Given the description of an element on the screen output the (x, y) to click on. 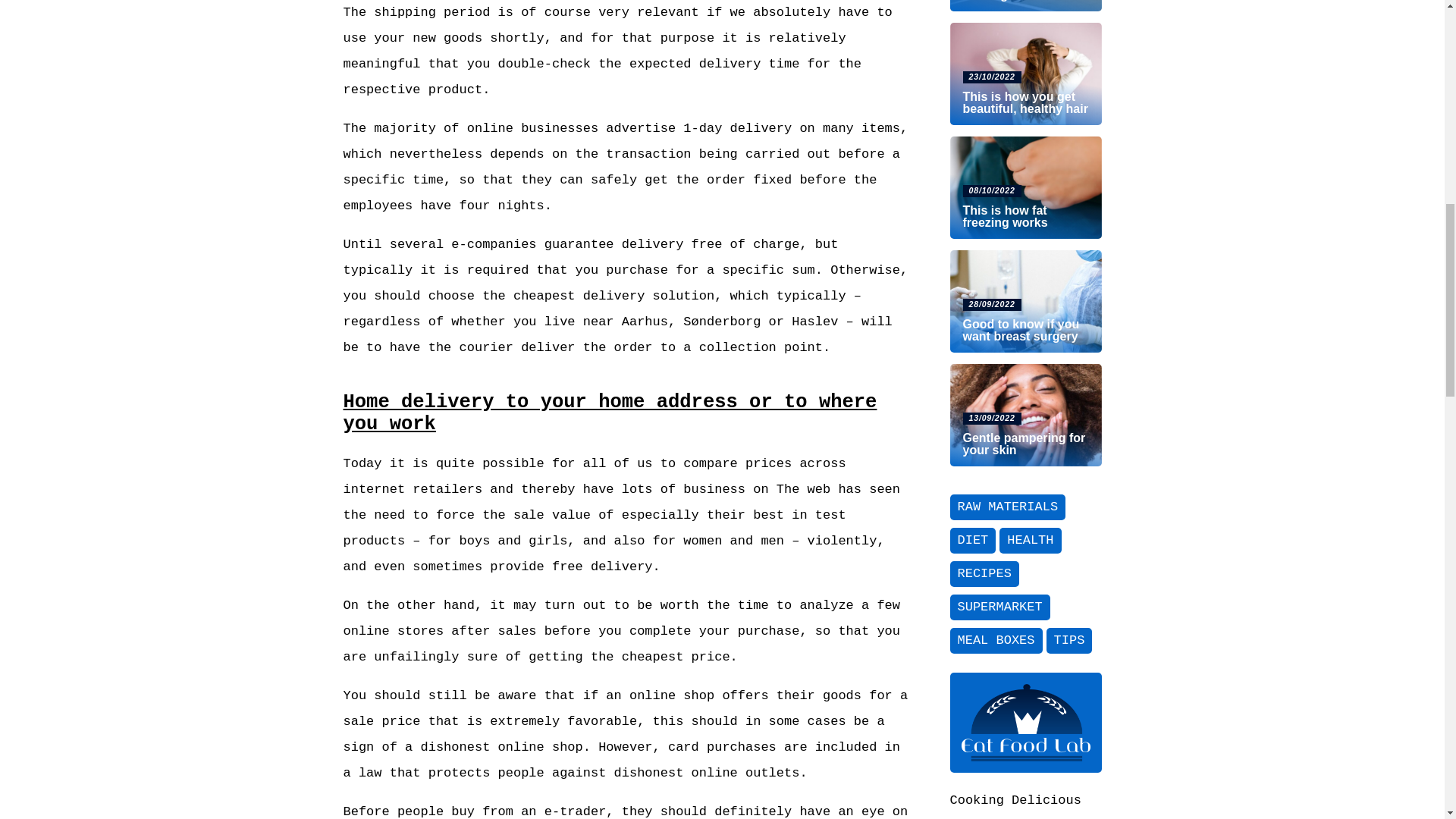
Cooking Delicious Meals at Home: 30 Ideas! (1014, 806)
